Given the description of an element on the screen output the (x, y) to click on. 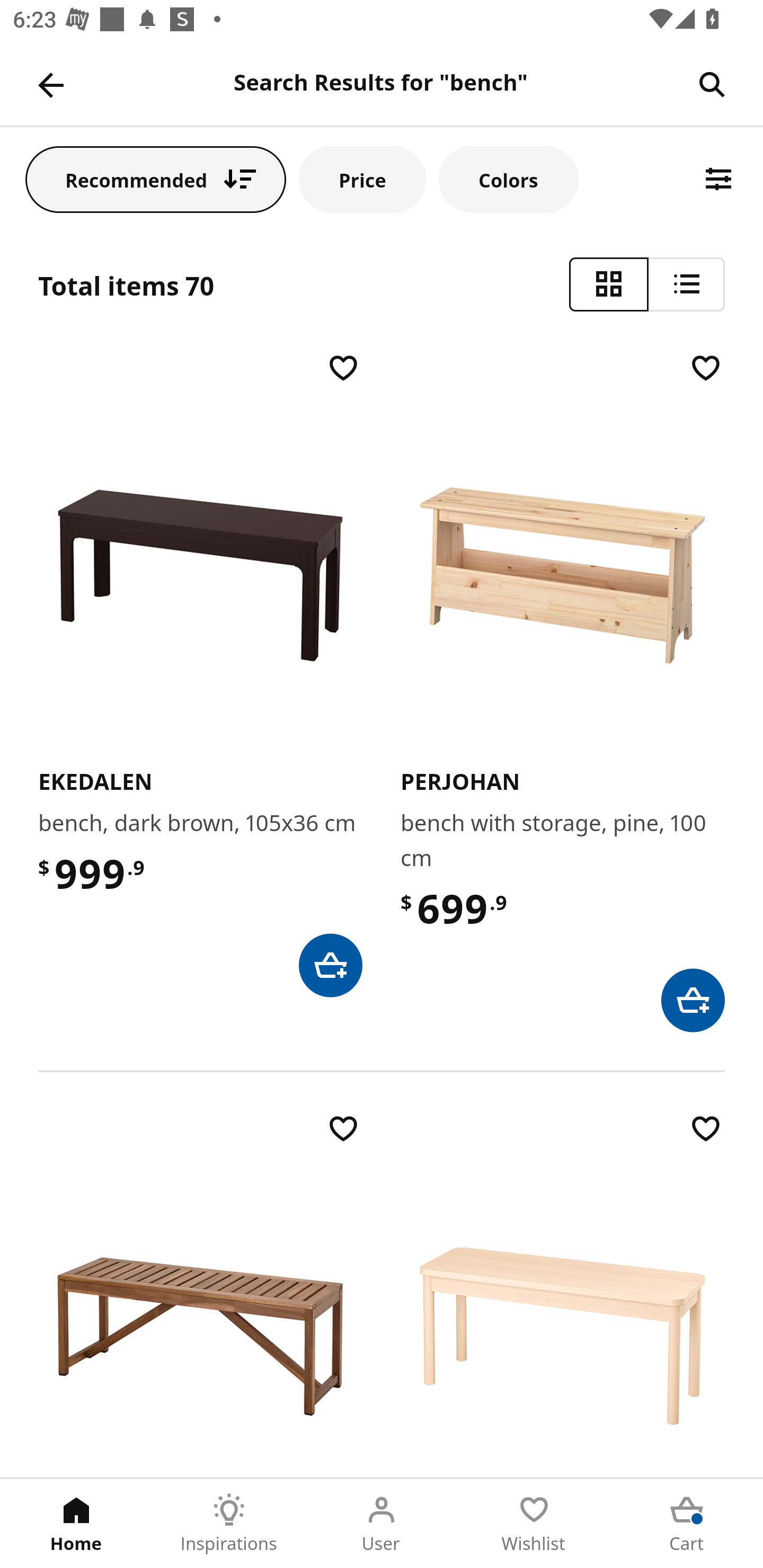
Recommended (155, 179)
Price (362, 179)
Colors (508, 179)
​R​Ö​N​N​I​N​G​E​
bench, birch, 100 cm
$
999
.9 (562, 1293)
Home
Tab 1 of 5 (76, 1522)
Inspirations
Tab 2 of 5 (228, 1522)
User
Tab 3 of 5 (381, 1522)
Wishlist
Tab 4 of 5 (533, 1522)
Cart
Tab 5 of 5 (686, 1522)
